Given the description of an element on the screen output the (x, y) to click on. 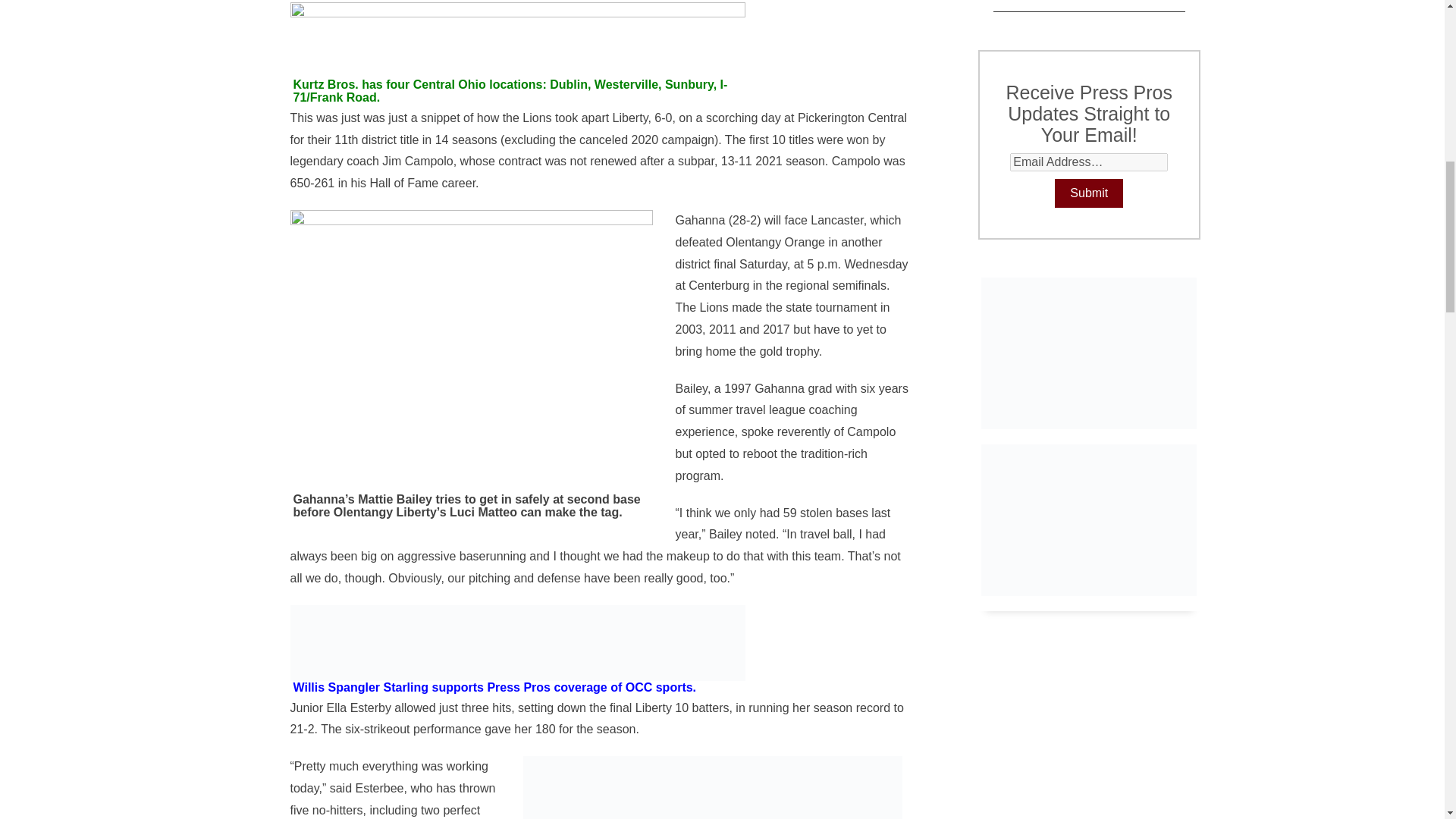
Submit (1088, 193)
